Given the description of an element on the screen output the (x, y) to click on. 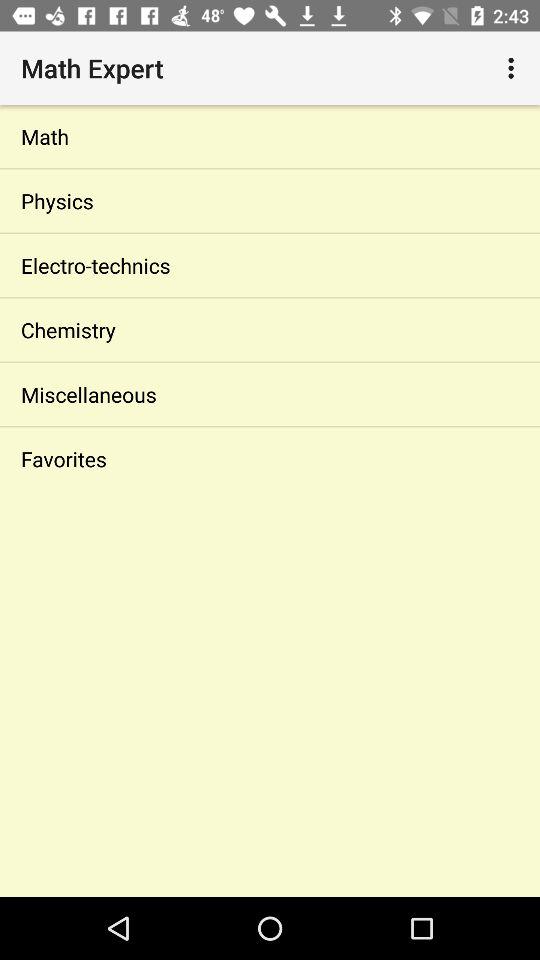
open the icon below math item (270, 200)
